Given the description of an element on the screen output the (x, y) to click on. 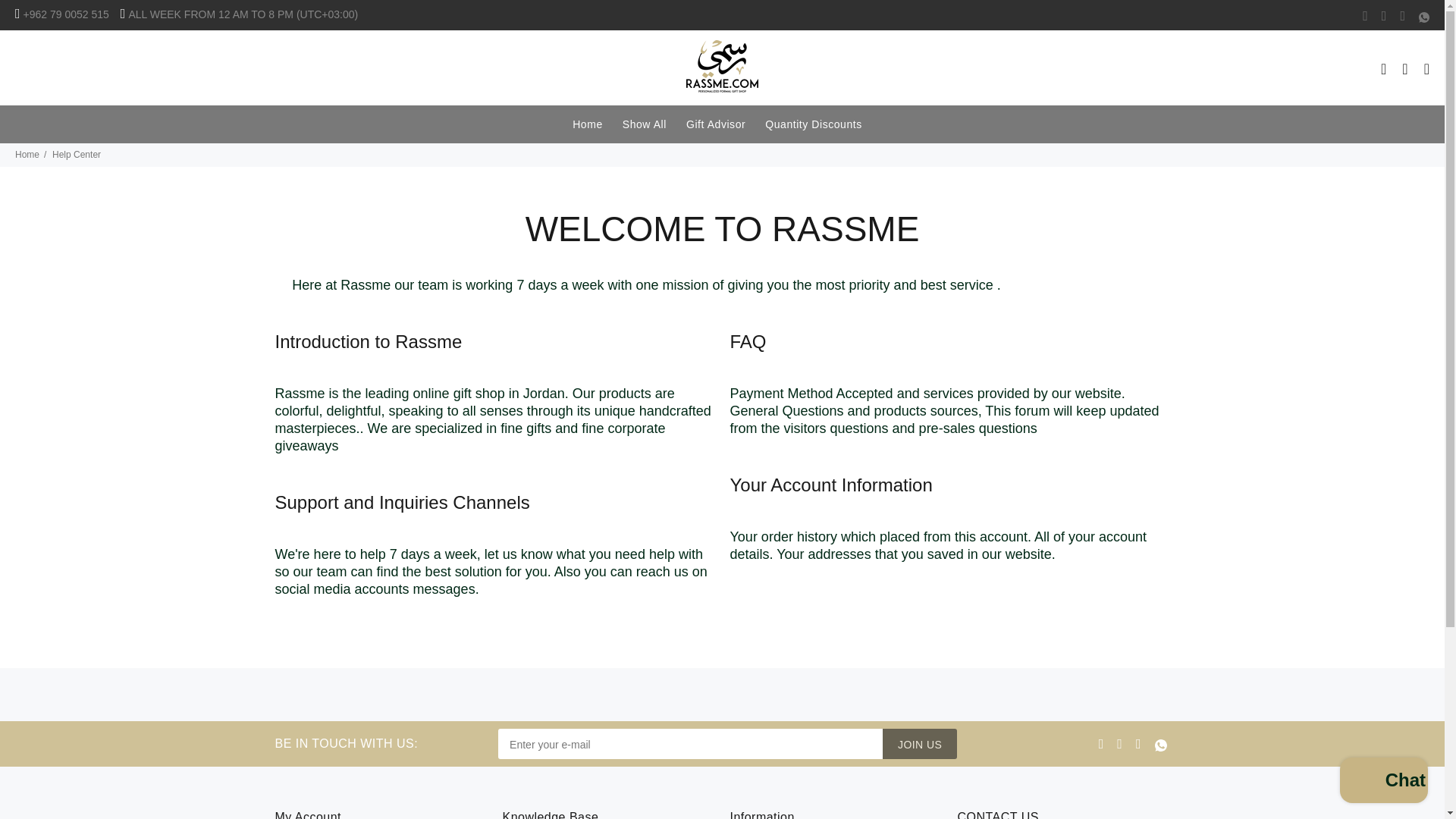
Shopify online store chat (1383, 781)
Quantity Discounts (813, 124)
Home (587, 124)
Gift Advisor (716, 124)
Show All (644, 124)
Home (26, 154)
JOIN US (919, 743)
